Given the description of an element on the screen output the (x, y) to click on. 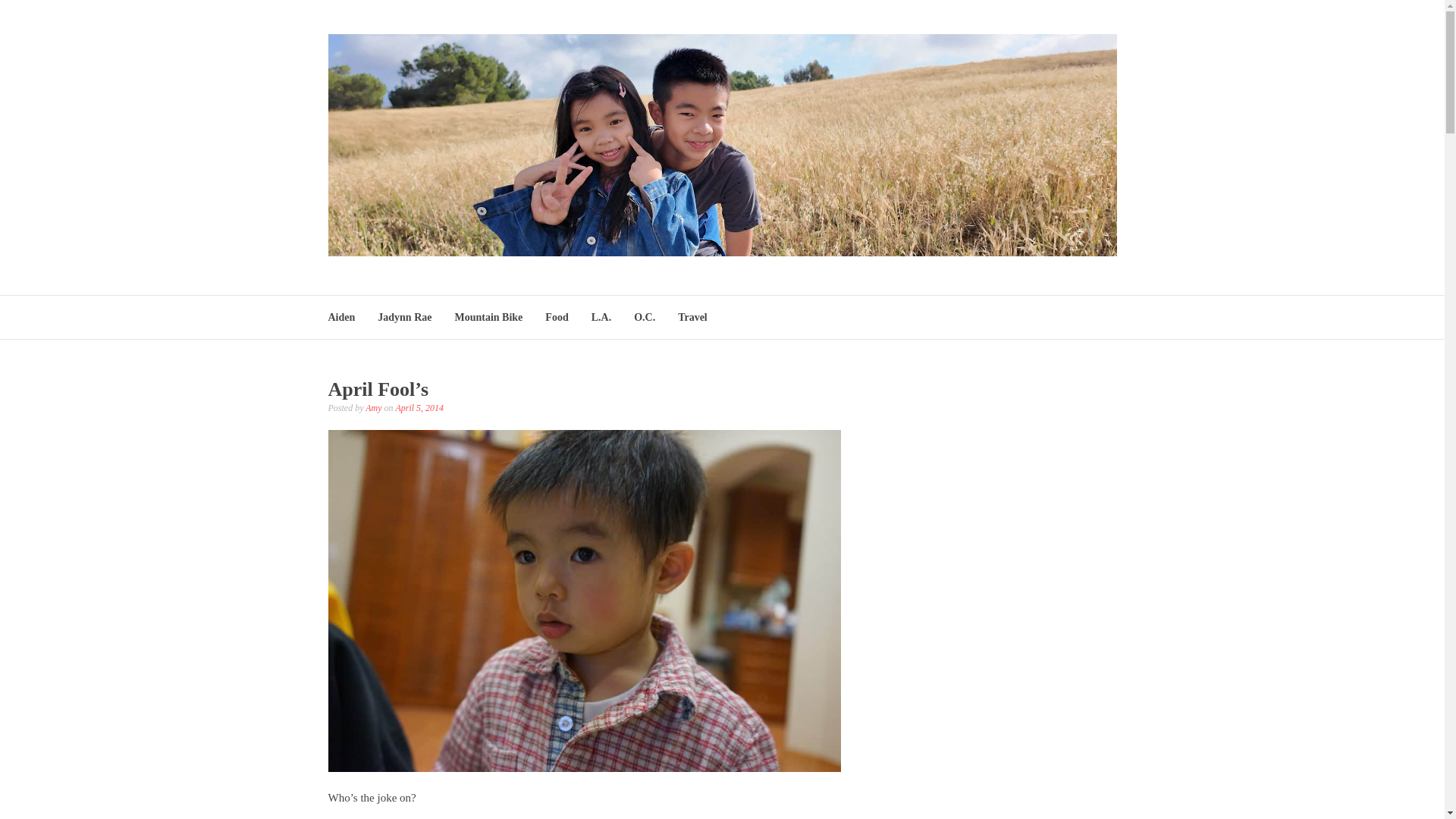
Little Aiden's Video (989, 605)
Little Jadynn's Video (989, 439)
Jadynn Rae (403, 317)
Mountain Bike (488, 317)
MTB (989, 764)
